Given the description of an element on the screen output the (x, y) to click on. 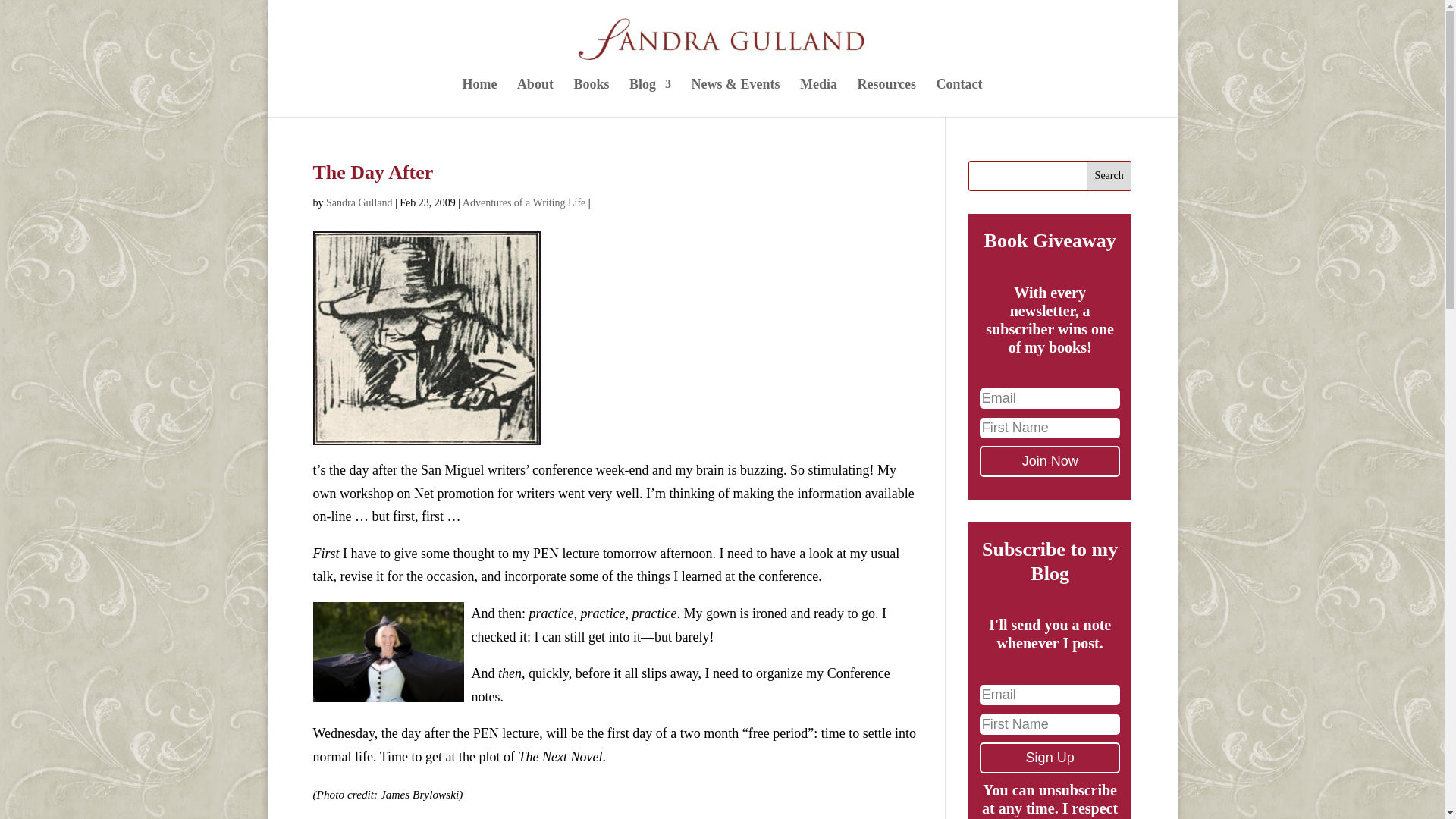
The Day After (372, 172)
Join Now (1050, 460)
First Name (1050, 724)
Adventures of a Writing Life (524, 202)
Media (818, 97)
Email (1050, 398)
Search (1109, 175)
Sign Up (1050, 757)
Search (1109, 175)
About (534, 97)
